Given the description of an element on the screen output the (x, y) to click on. 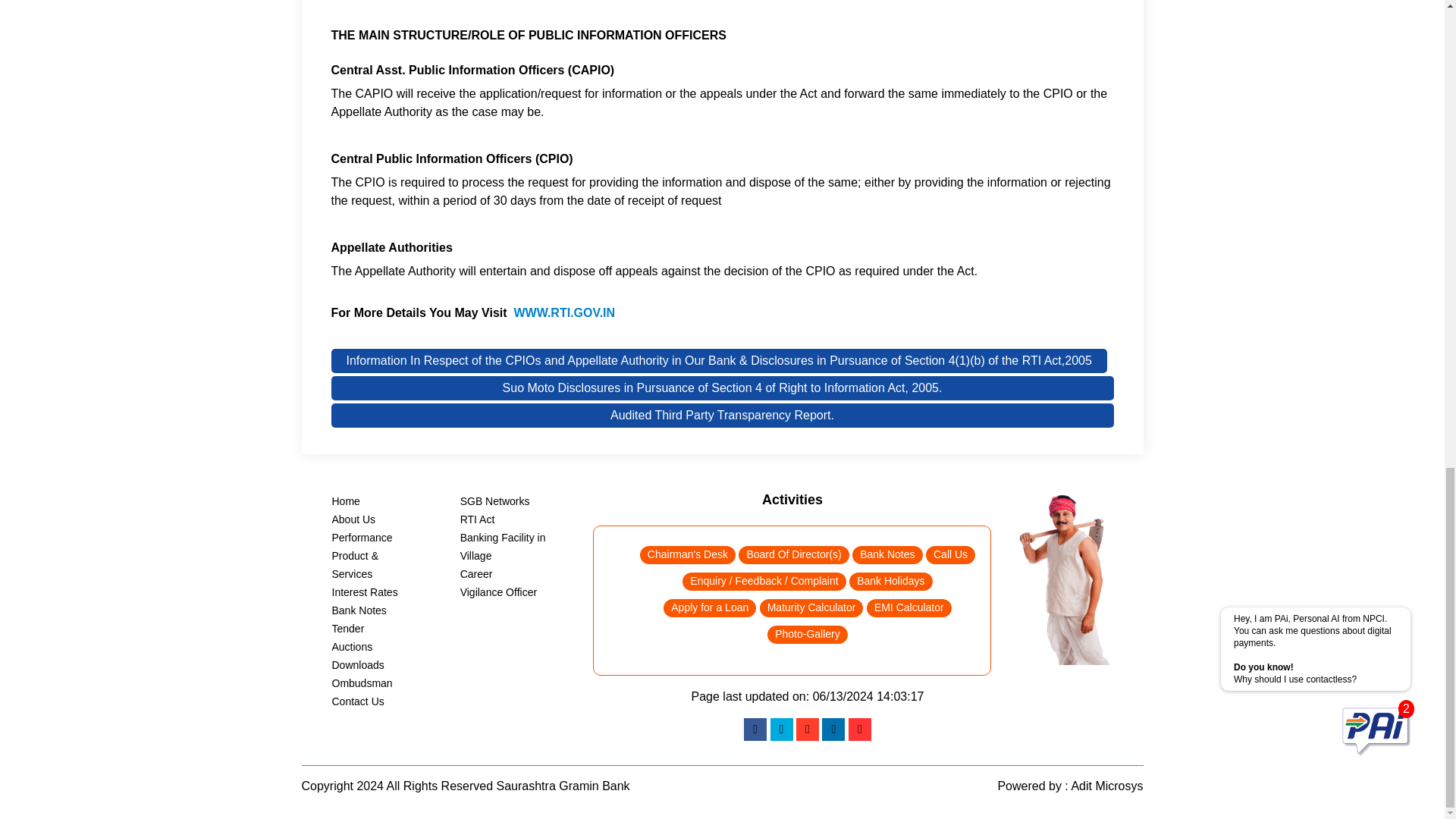
Tender (348, 628)
Ombudsman (362, 683)
Banking Facility in Village (503, 546)
Audited Third Party Transparency Report. (721, 415)
Bank Notes (359, 610)
Performance (362, 537)
Downloads (357, 664)
WWW.RTI.GOV.IN (563, 312)
Home (345, 500)
About Us (353, 519)
Career (476, 573)
RTI Act (477, 519)
SGB Networks (494, 500)
Contact Us (357, 701)
